Given the description of an element on the screen output the (x, y) to click on. 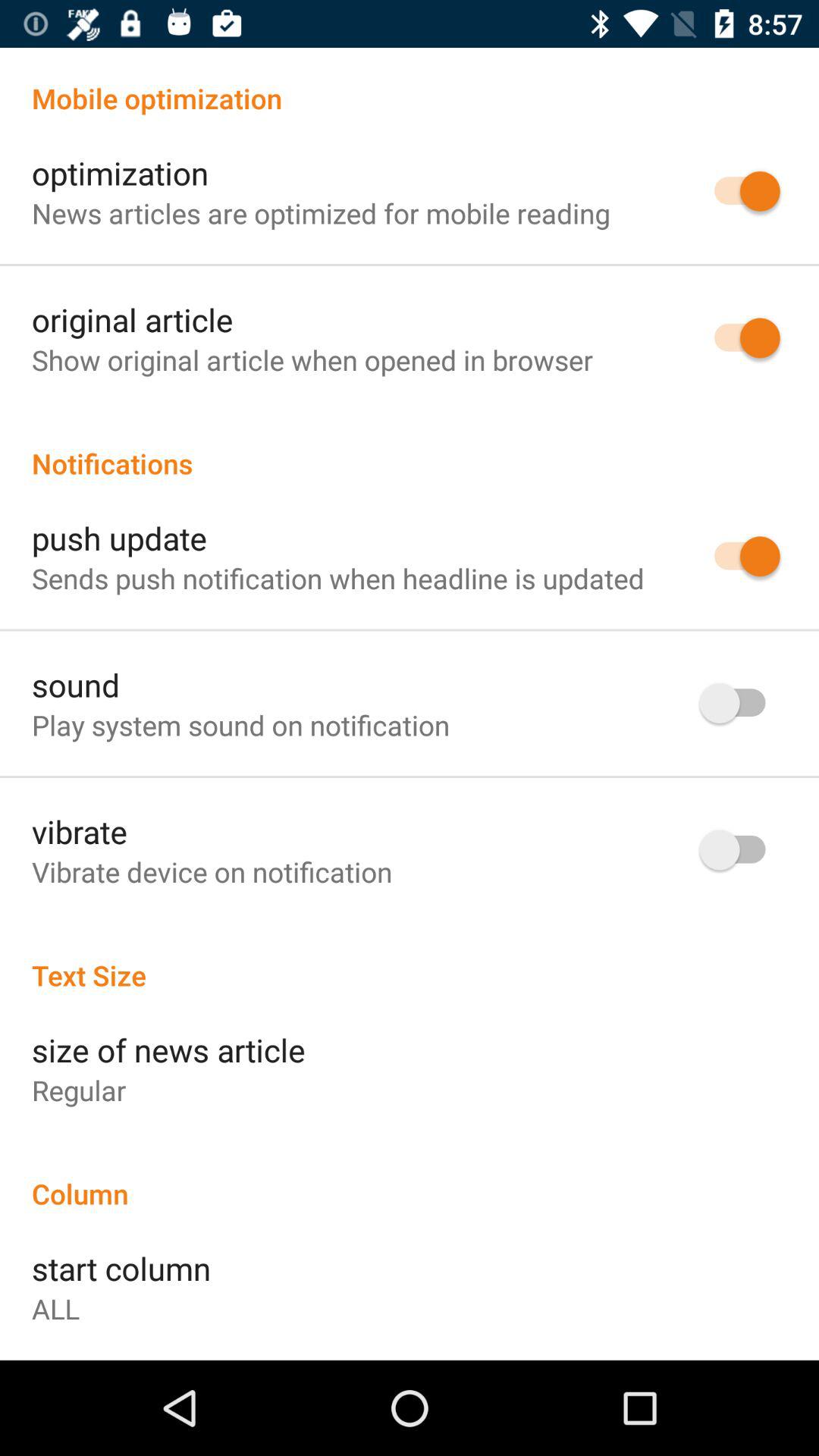
press the notifications (409, 447)
